Given the description of an element on the screen output the (x, y) to click on. 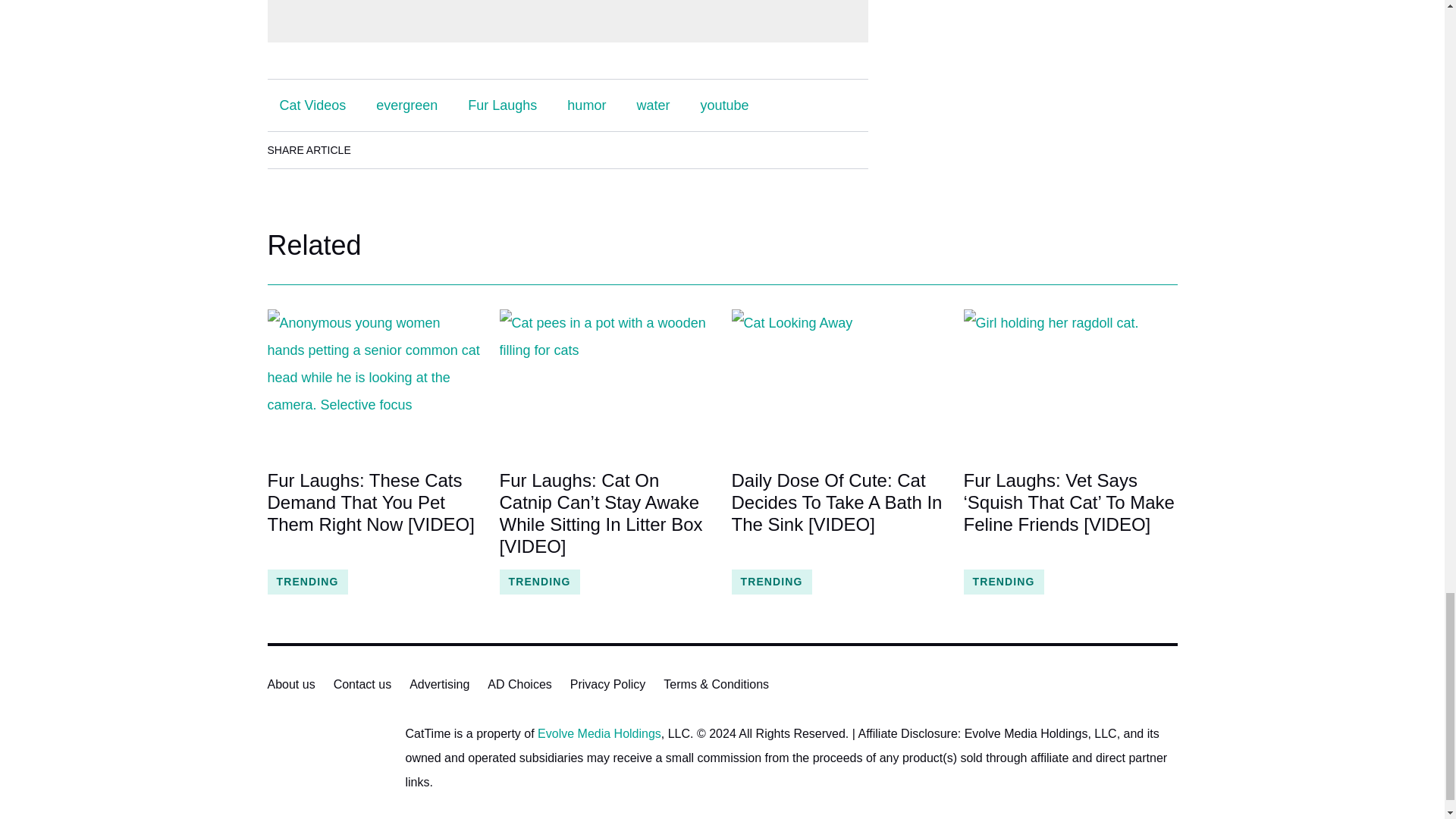
Fur Laughs (501, 104)
Cat Videos (312, 104)
evergreen (406, 104)
humor (585, 104)
